Given the description of an element on the screen output the (x, y) to click on. 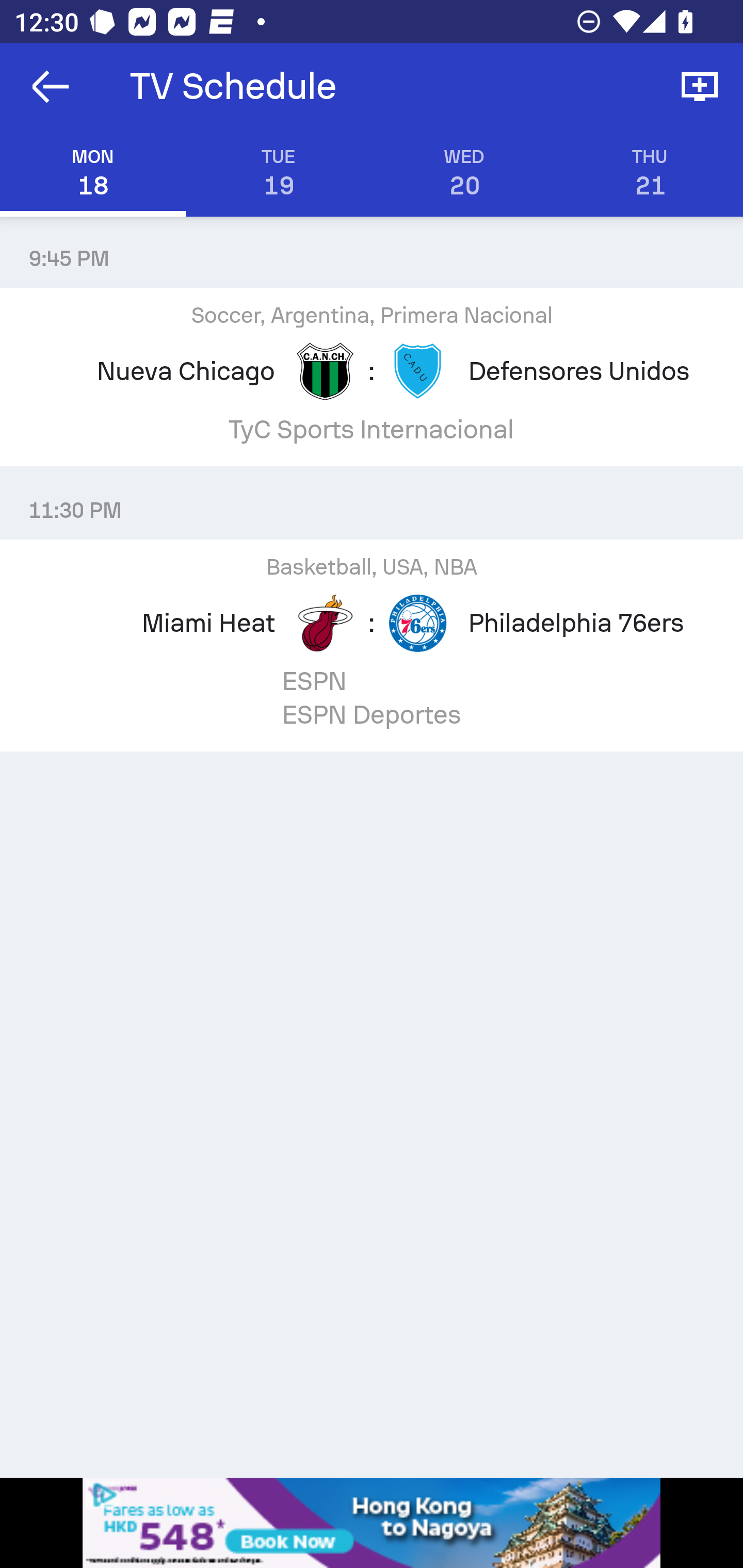
Navigate up (50, 86)
Edit channels (699, 86)
TUE 19 (278, 173)
WED 20 (464, 173)
THU 21 (650, 173)
9:45 PM (371, 250)
11:30 PM (371, 502)
wi46309w_320x50 (371, 1522)
